Given the description of an element on the screen output the (x, y) to click on. 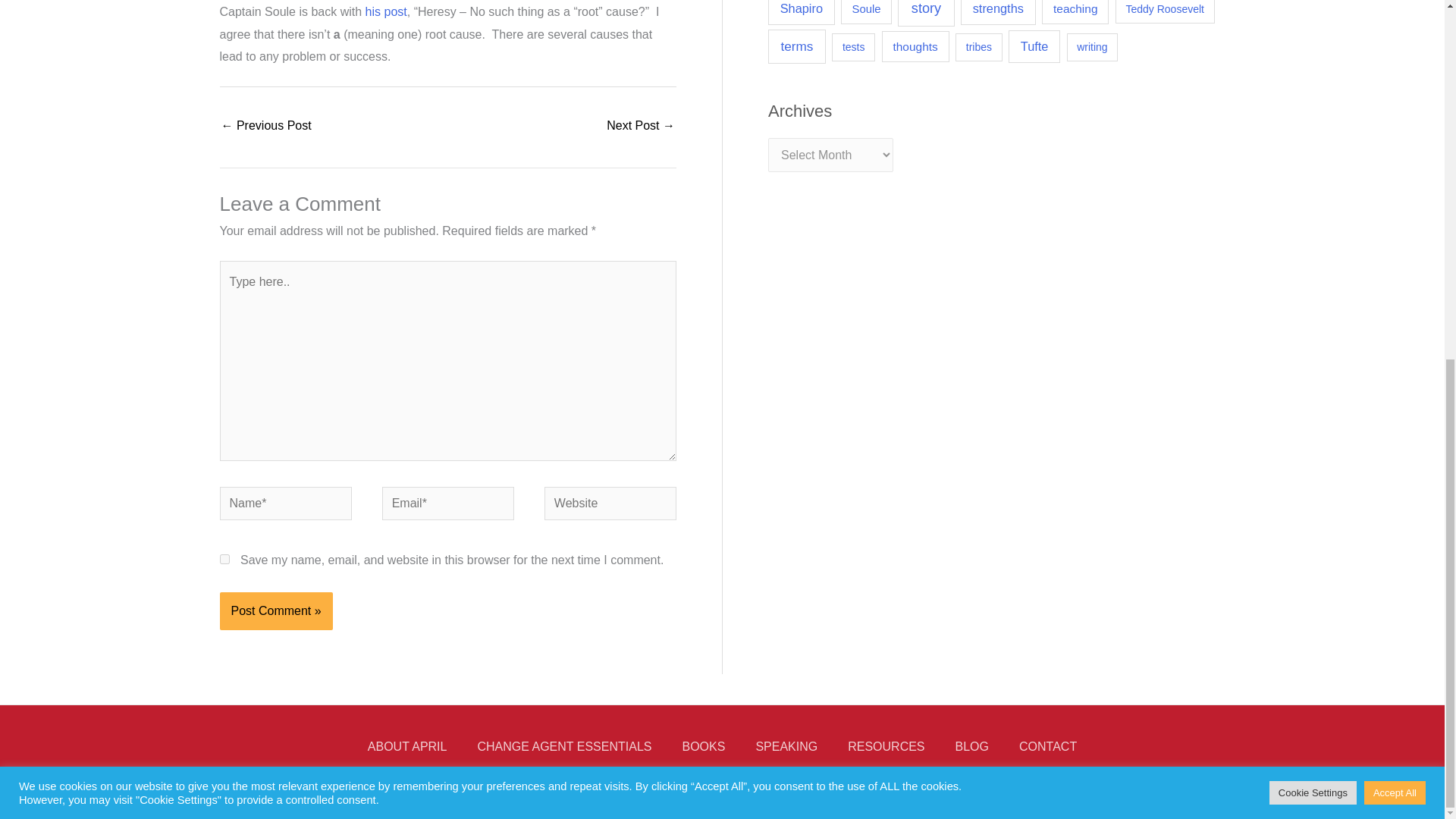
Word play (266, 126)
Happen to Things (641, 126)
his post (386, 11)
yes (224, 559)
